Given the description of an element on the screen output the (x, y) to click on. 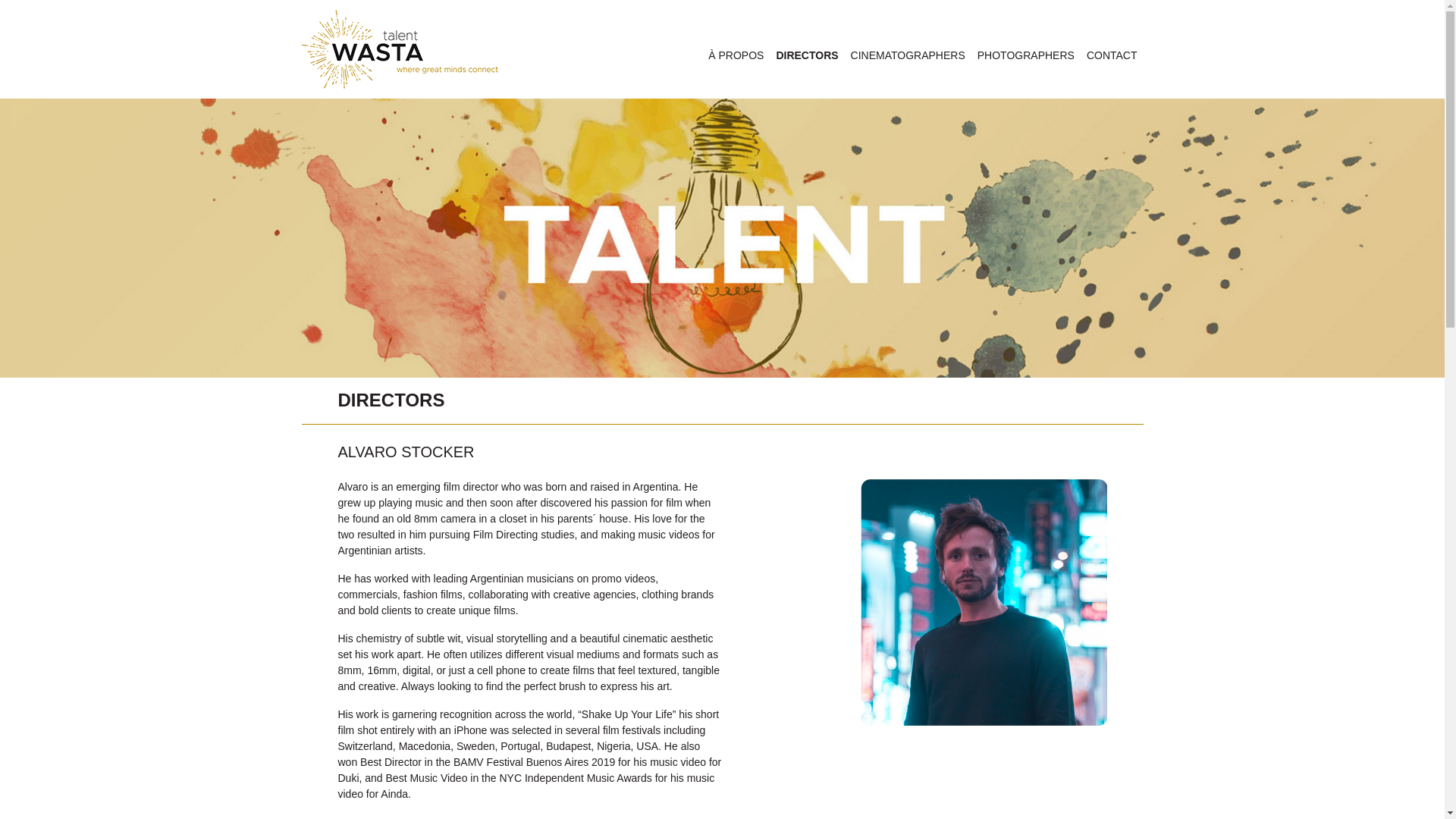
CINEMATOGRAPHERS (907, 54)
DIRECTORS (391, 399)
DIRECTORS (807, 54)
CONTACT (1111, 54)
PHOTOGRAPHERS (1025, 54)
